Given the description of an element on the screen output the (x, y) to click on. 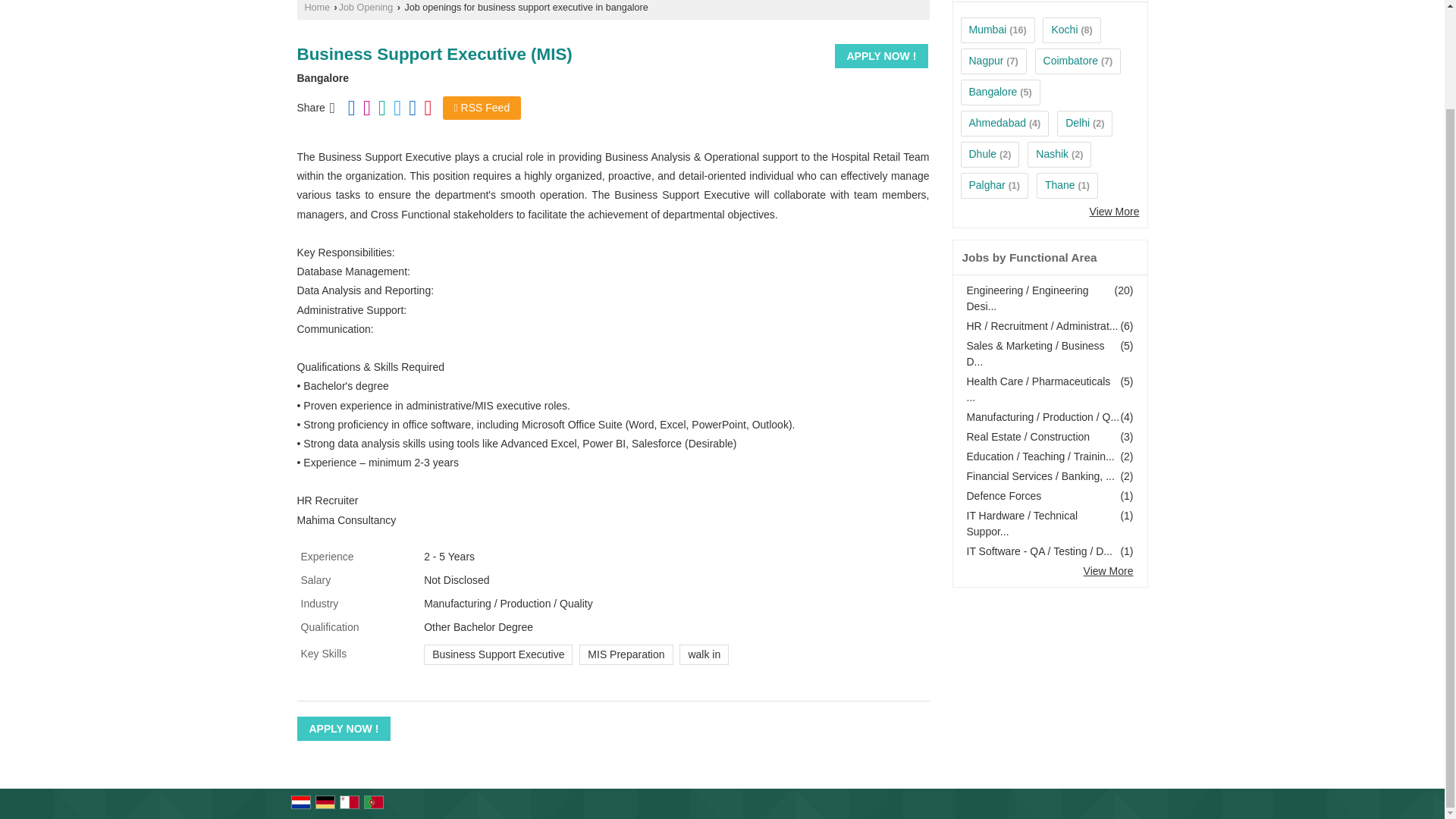
Job Opening (366, 7)
APPLY NOW ! (881, 55)
APPLY NOW ! (881, 55)
Coimbatore (1070, 60)
Ahmedabad (997, 122)
Bangalore (993, 91)
Home (317, 7)
APPLY NOW ! (344, 728)
APPLY NOW ! (344, 728)
RSS Feed (481, 107)
Mumbai (988, 29)
Nagpur (986, 60)
Kochi (1064, 29)
Job Opening (366, 7)
